Given the description of an element on the screen output the (x, y) to click on. 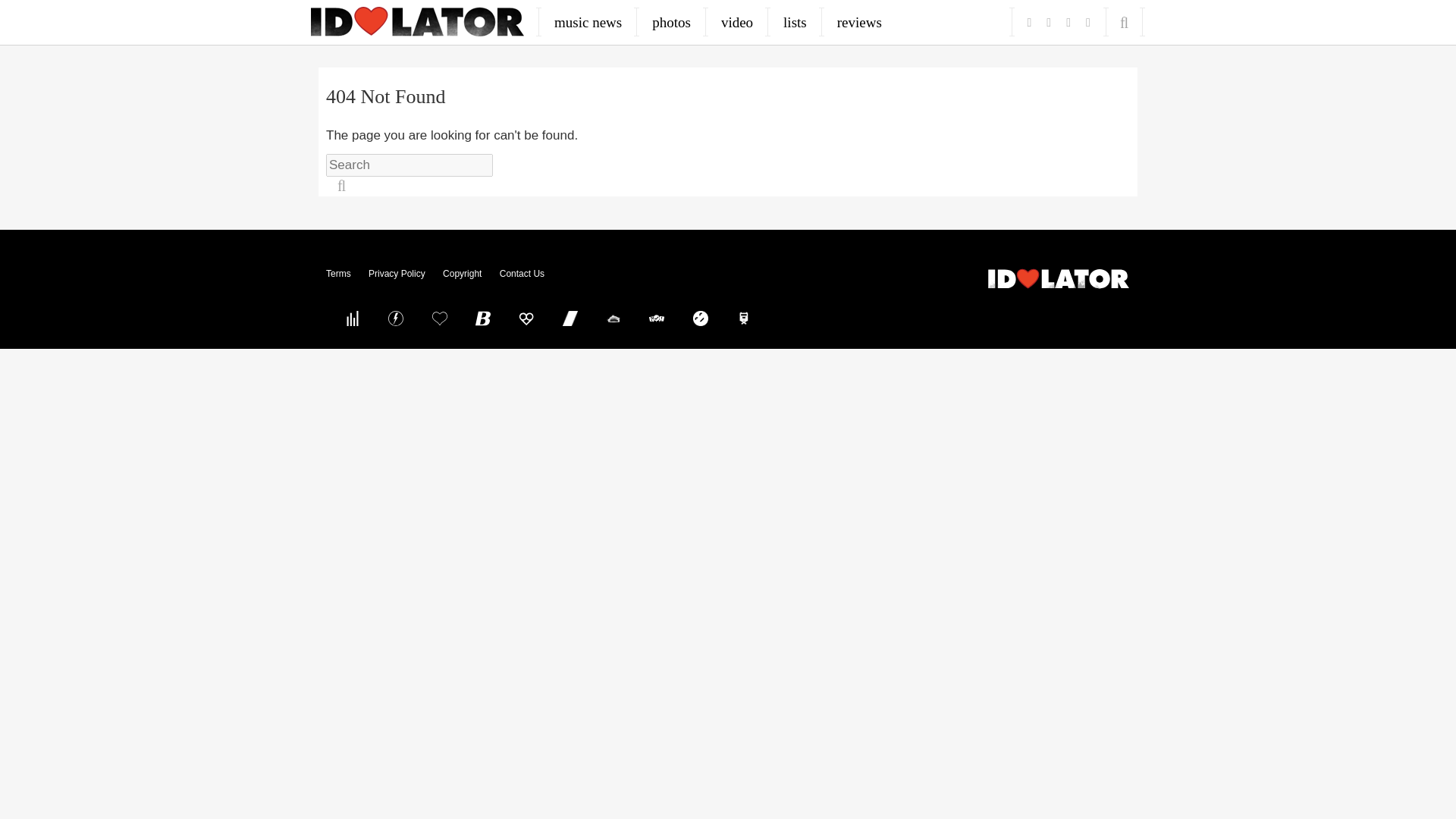
Terms (338, 273)
Trend Chaser (570, 318)
Hooch (526, 318)
Taco Relish (612, 318)
BleacherBreaker (483, 318)
Post Fun (439, 318)
photos (671, 22)
Quizscape (656, 318)
music news (587, 22)
reviews (859, 22)
Pure Volume (351, 318)
Privacy Policy (396, 273)
Copyright (461, 273)
Explored Hollywood (743, 318)
lists (795, 22)
